Given the description of an element on the screen output the (x, y) to click on. 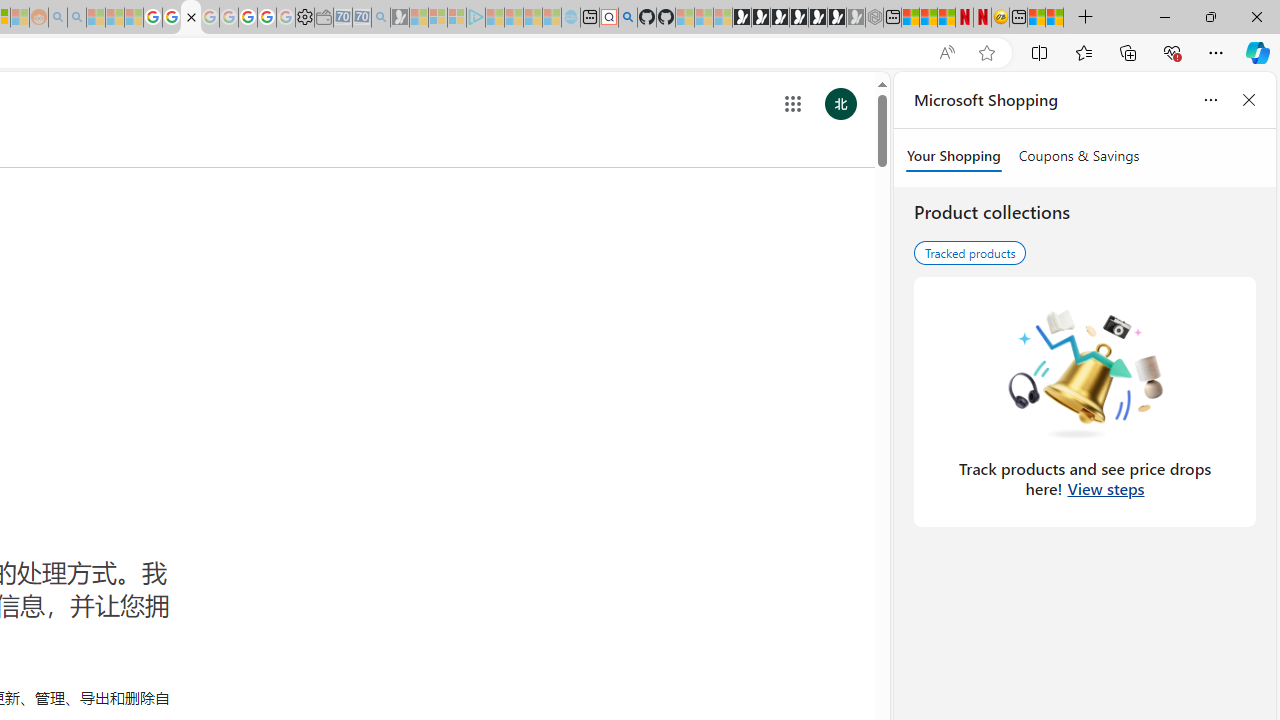
github - Search (628, 17)
